Given the description of an element on the screen output the (x, y) to click on. 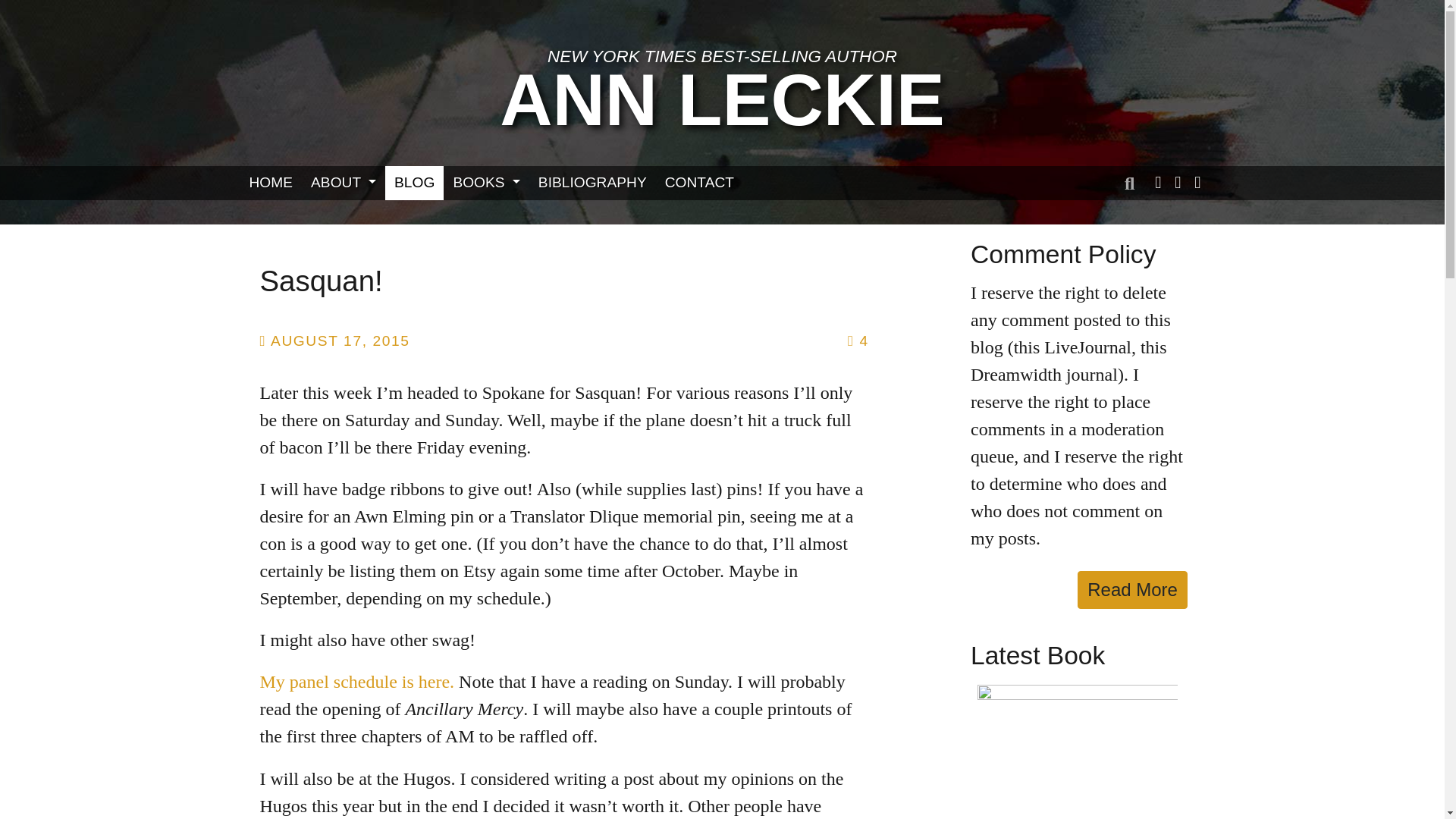
HOME (270, 182)
BLOG (414, 182)
About (343, 182)
ANN LECKIE (722, 100)
BOOKS (486, 182)
Bibliography (592, 182)
Books (486, 182)
Contact (699, 182)
ABOUT (343, 182)
Home (270, 182)
